Given the description of an element on the screen output the (x, y) to click on. 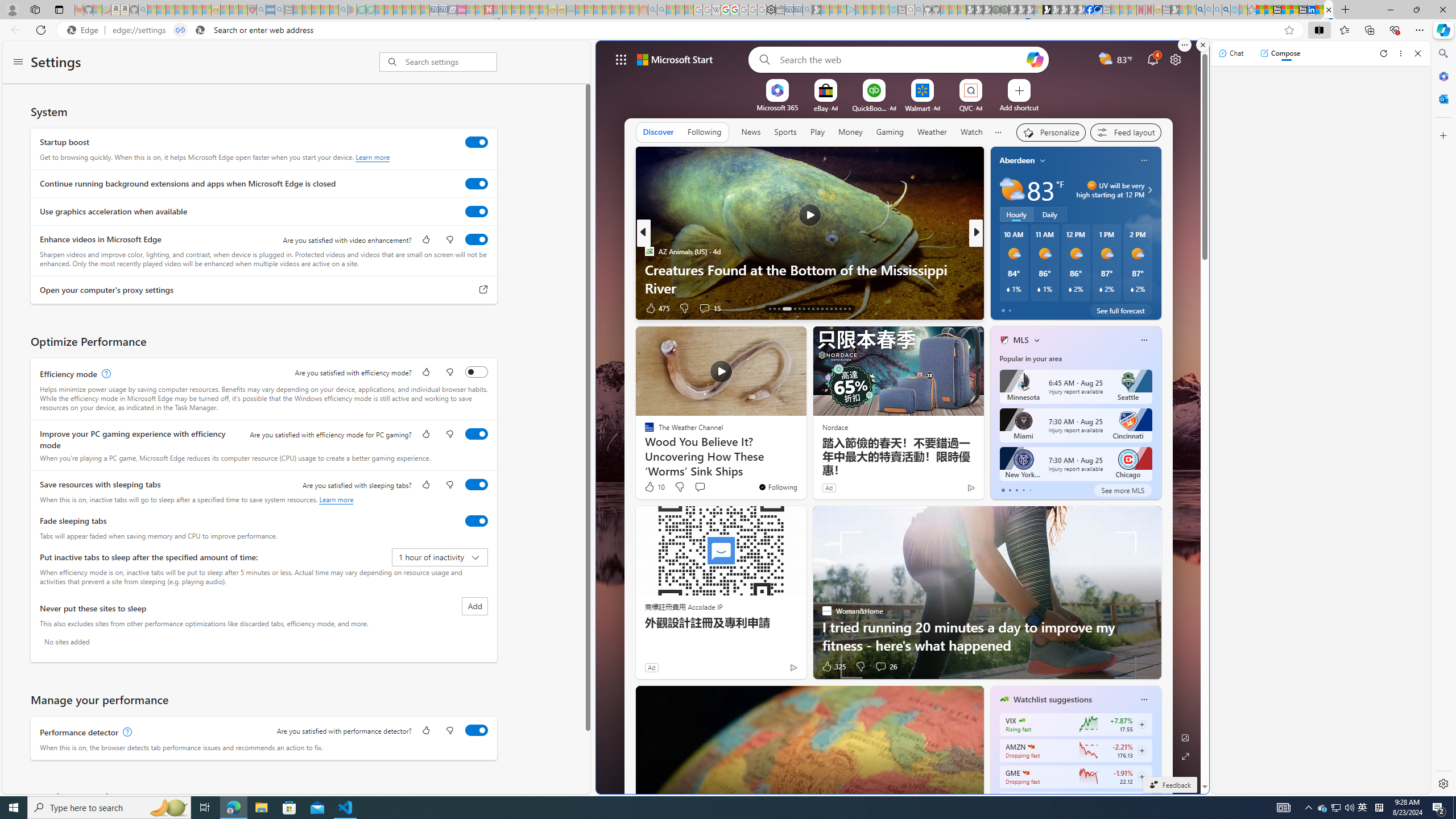
Performance detector (476, 730)
887 Like (1007, 307)
View comments 14 Comment (1056, 307)
Partly sunny (1011, 189)
Efficiency mode (476, 371)
AutomationID: tab-25 (831, 308)
github - Search - Sleeping (919, 9)
Learn more (335, 499)
Lifewire (999, 269)
